Given the description of an element on the screen output the (x, y) to click on. 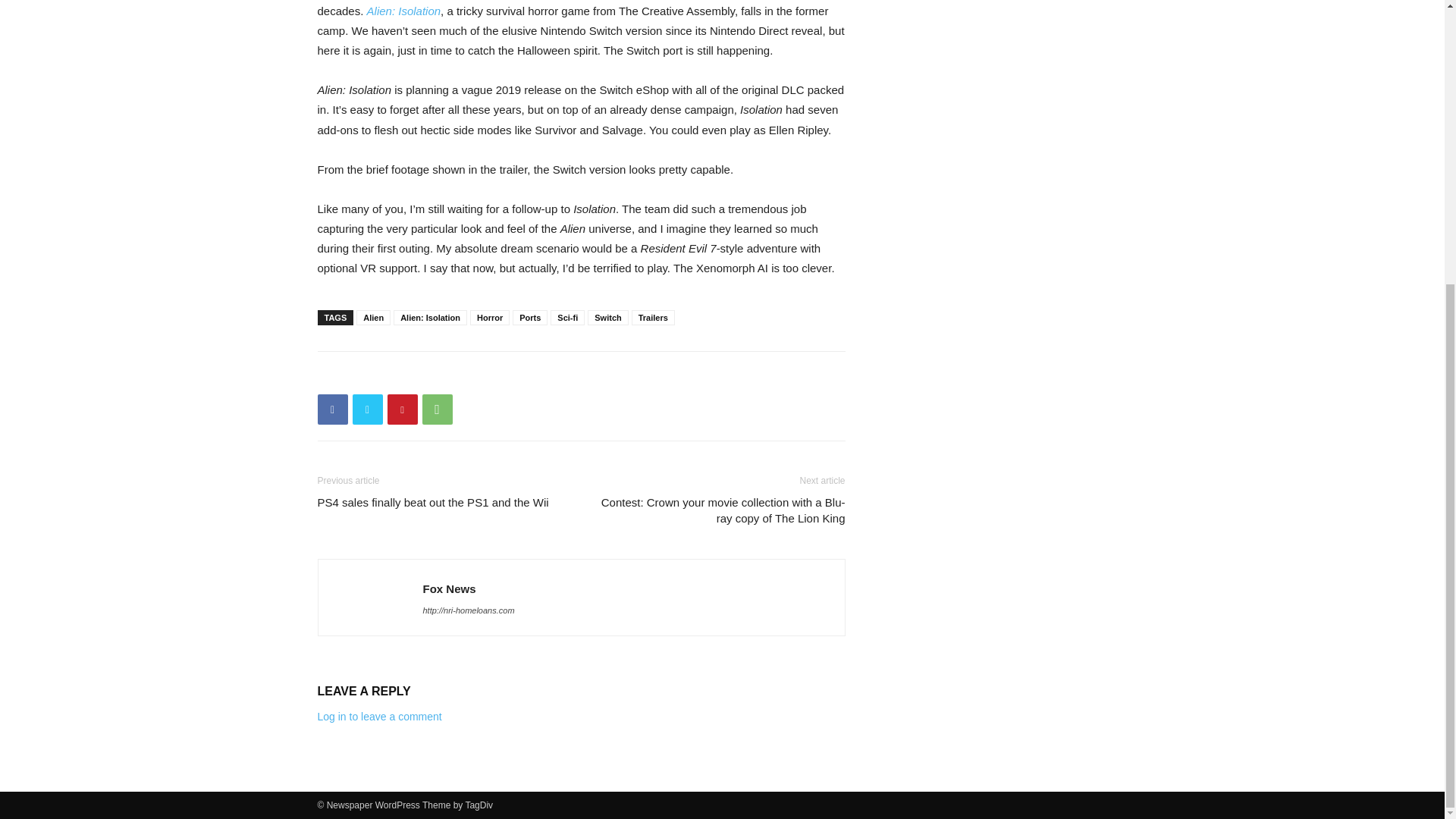
PS4 sales finally beat out the PS1 and the Wii (432, 502)
Horror (489, 317)
Pinterest (401, 409)
Alien: Isolation (403, 10)
Sci-fi (567, 317)
Facebook (332, 409)
WhatsApp (436, 409)
bottomFacebookLike (430, 375)
Trailers (653, 317)
Ports (529, 317)
Switch (607, 317)
Alien: Isolation (430, 317)
Alien (373, 317)
Twitter (366, 409)
